Given the description of an element on the screen output the (x, y) to click on. 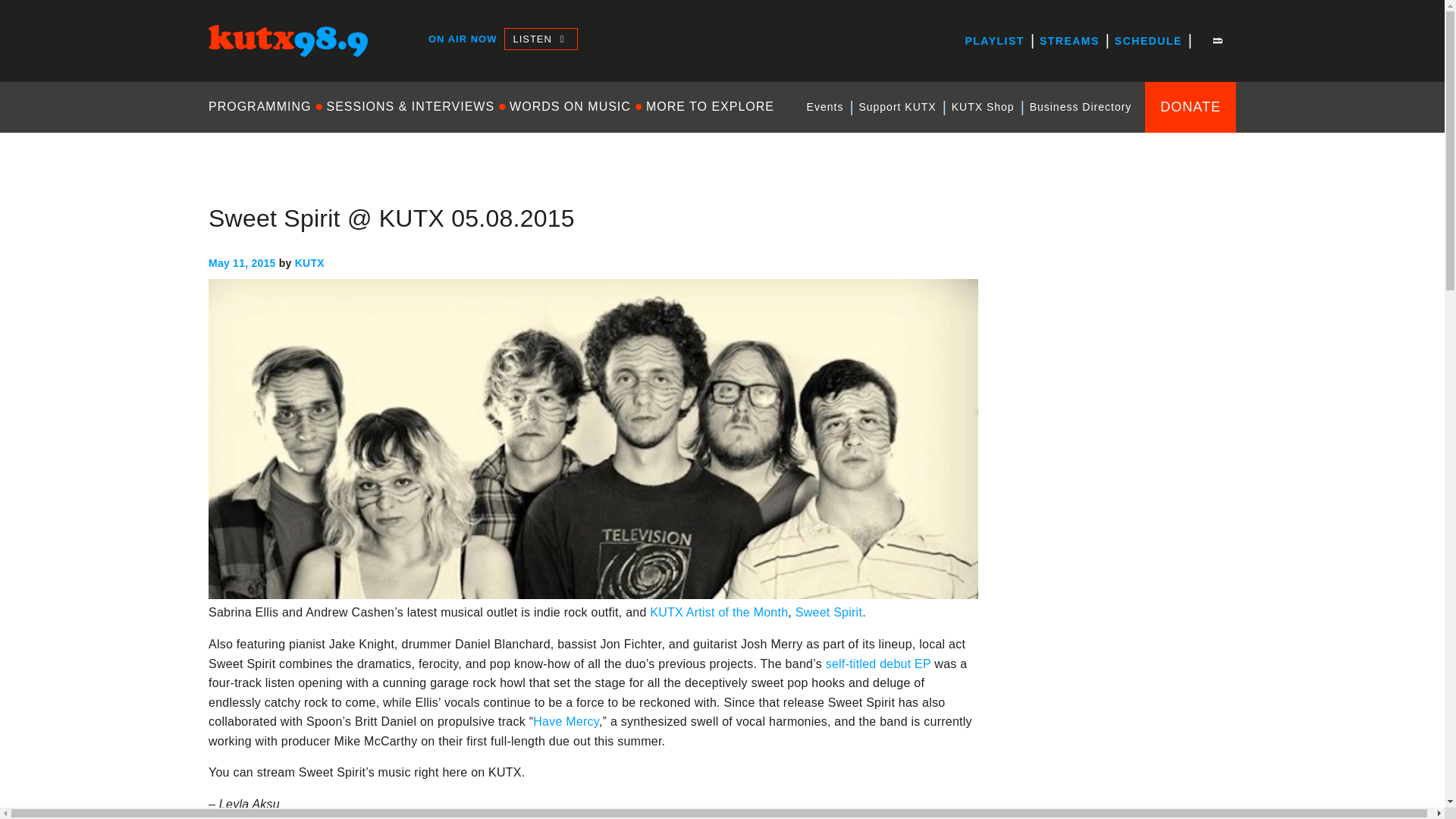
STREAMS (1069, 40)
Events (825, 106)
Support KUTX (896, 106)
DONATE (1190, 106)
LISTEN (539, 38)
KUTX Shop (982, 106)
PROGRAMMING (263, 106)
SCHEDULE (1147, 40)
KUTX (224, 69)
MORE TO EXPLORE (710, 106)
